Given the description of an element on the screen output the (x, y) to click on. 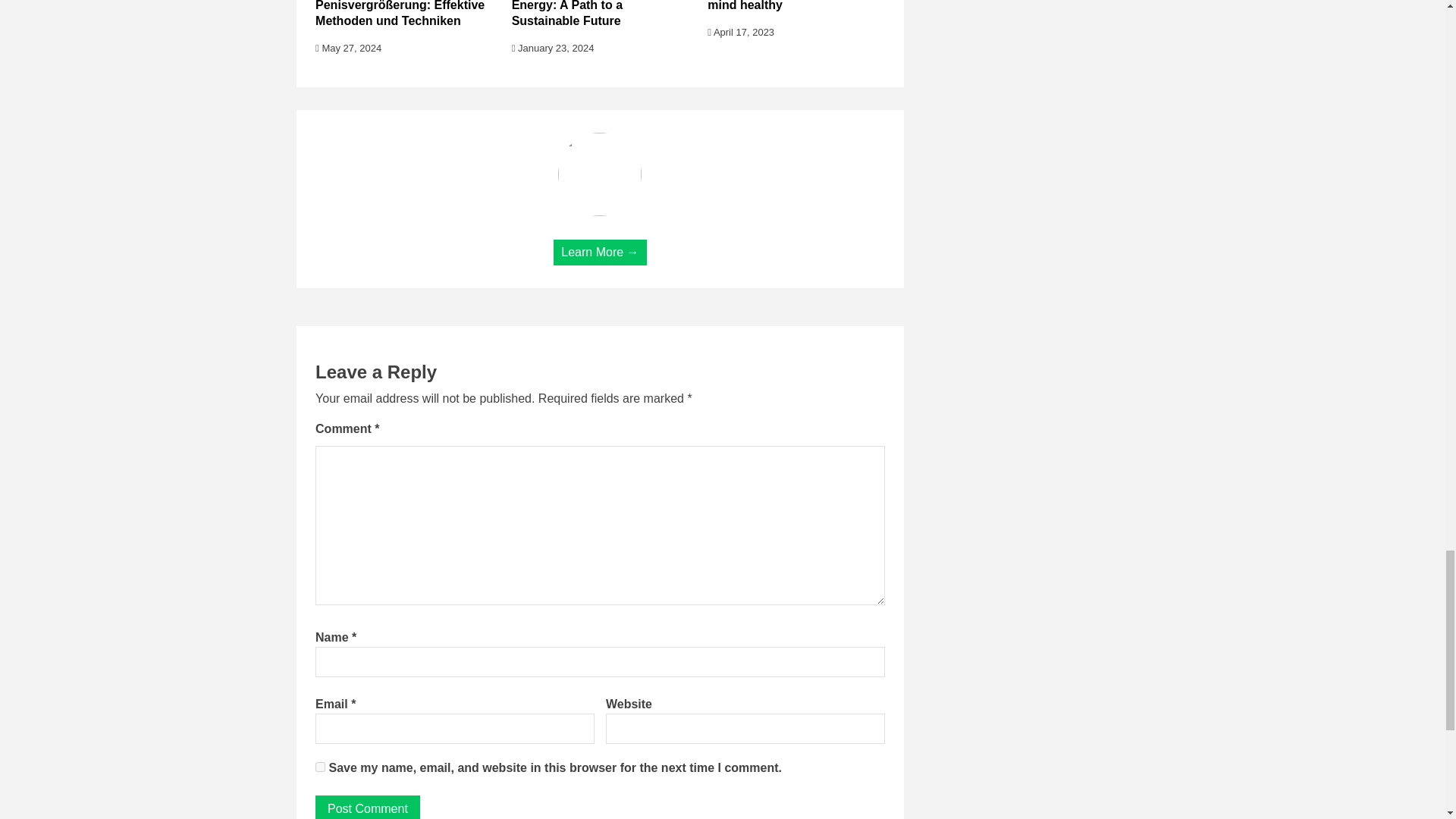
May 27, 2024 (348, 48)
Start reading to keep your mind healthy (782, 5)
April 17, 2023 (740, 31)
January 23, 2024 (553, 48)
yes (319, 767)
Post Comment (367, 807)
Post Comment (367, 807)
